Given the description of an element on the screen output the (x, y) to click on. 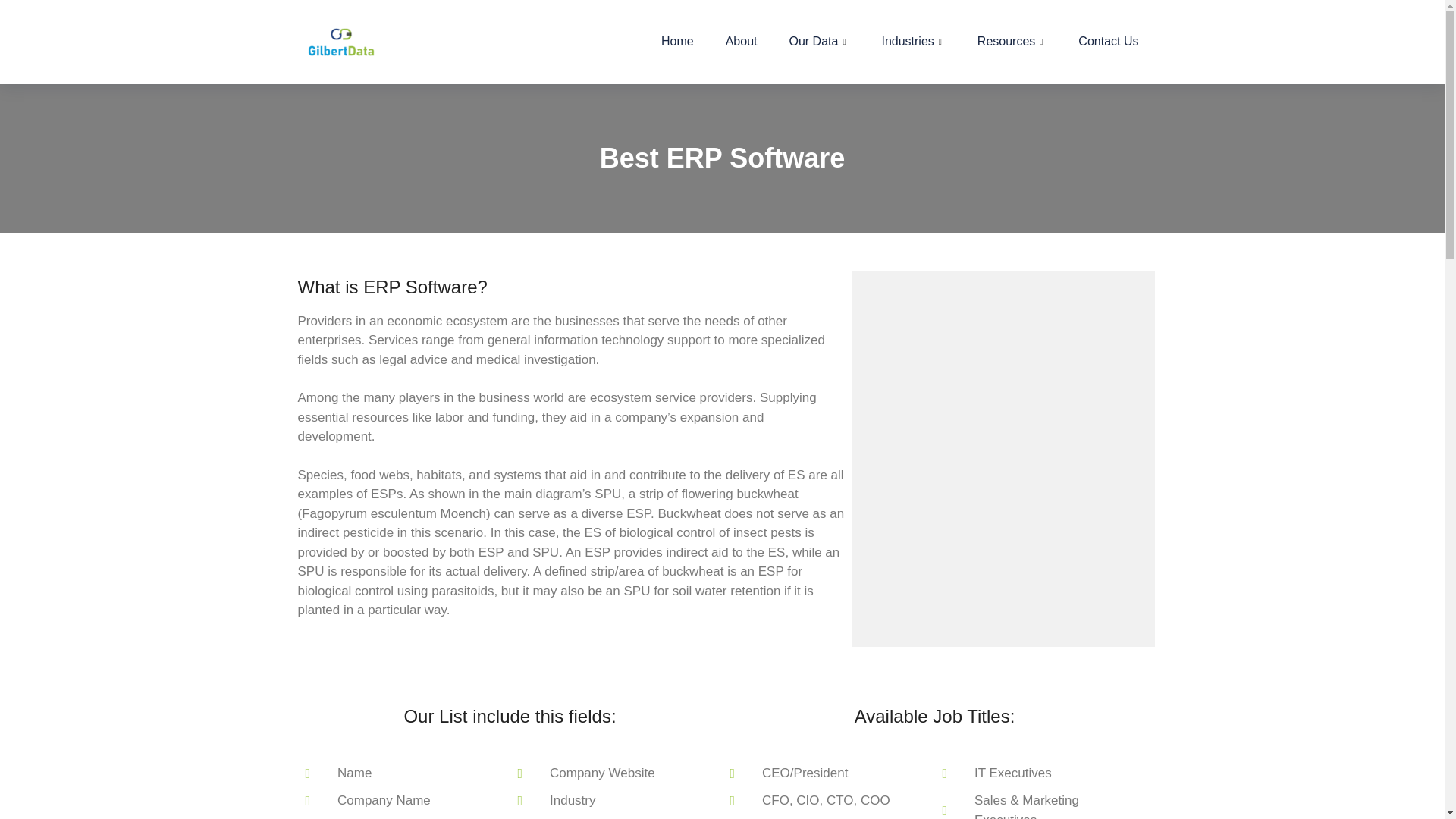
Home (677, 41)
Industries (912, 41)
Our Data (818, 41)
About (741, 41)
